Given the description of an element on the screen output the (x, y) to click on. 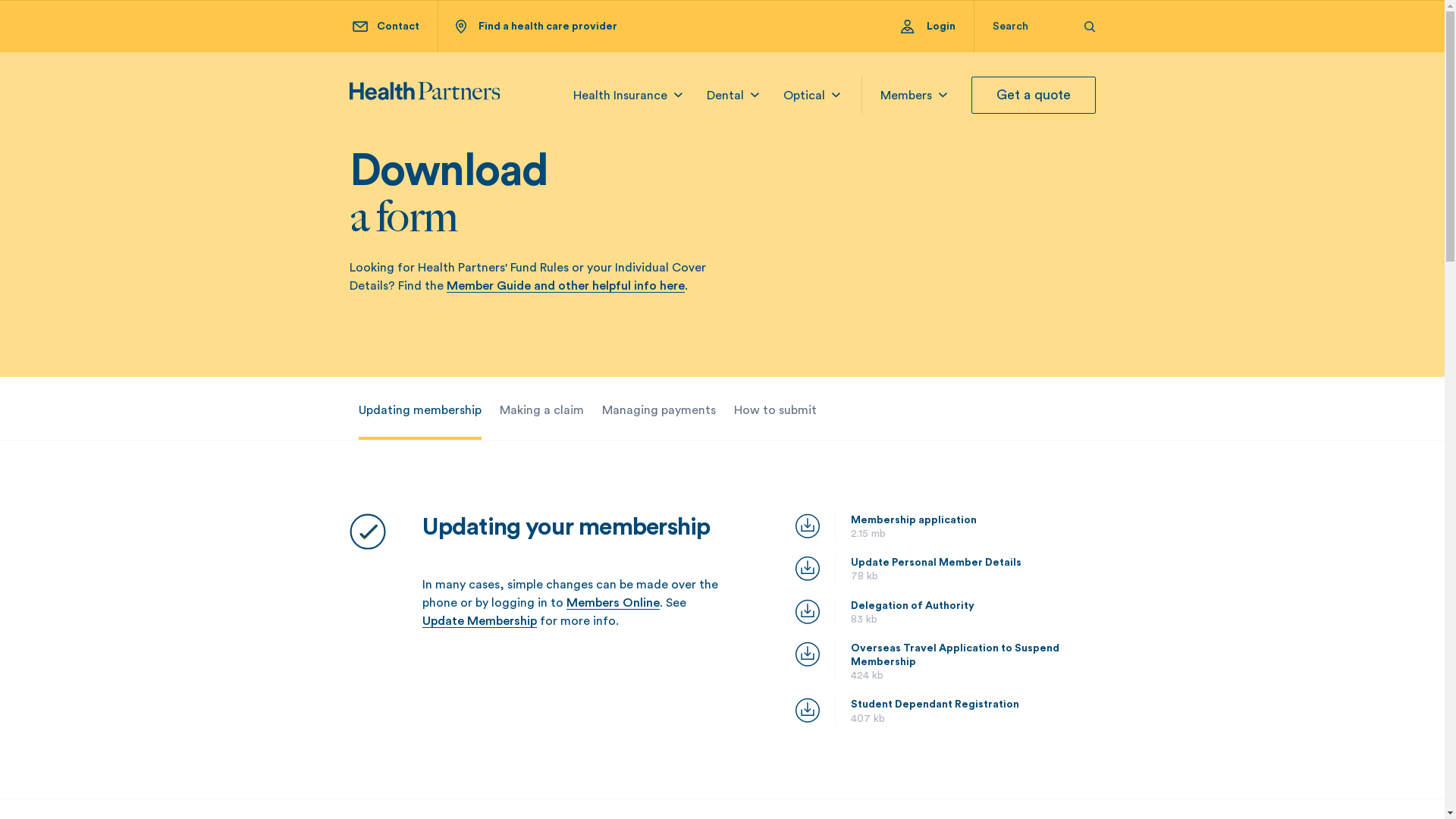
Overseas Travel Application to Suspend Membership
424 kb Element type: text (944, 662)
Optical Element type: text (803, 94)
Managing payments Element type: text (658, 410)
Update Personal Member Details
78 kb Element type: text (944, 569)
Health Insurance Element type: text (620, 94)
Making a claim Element type: text (540, 410)
Delegation of Authority
83 kb Element type: text (944, 612)
Members Online Element type: text (611, 602)
Student Dependant Registration
407 kb Element type: text (944, 710)
Membership application
2.15 mb Element type: text (944, 526)
Member Guide and other helpful info here Element type: text (564, 285)
Updating membership Element type: text (418, 410)
Find a health care provider Element type: text (535, 26)
Members Element type: text (905, 94)
Dental Element type: text (724, 94)
Get a quote Element type: text (1032, 94)
Update Membership Element type: text (478, 621)
Login Element type: text (936, 26)
Contact Element type: text (384, 26)
How to submit Element type: text (775, 410)
